Given the description of an element on the screen output the (x, y) to click on. 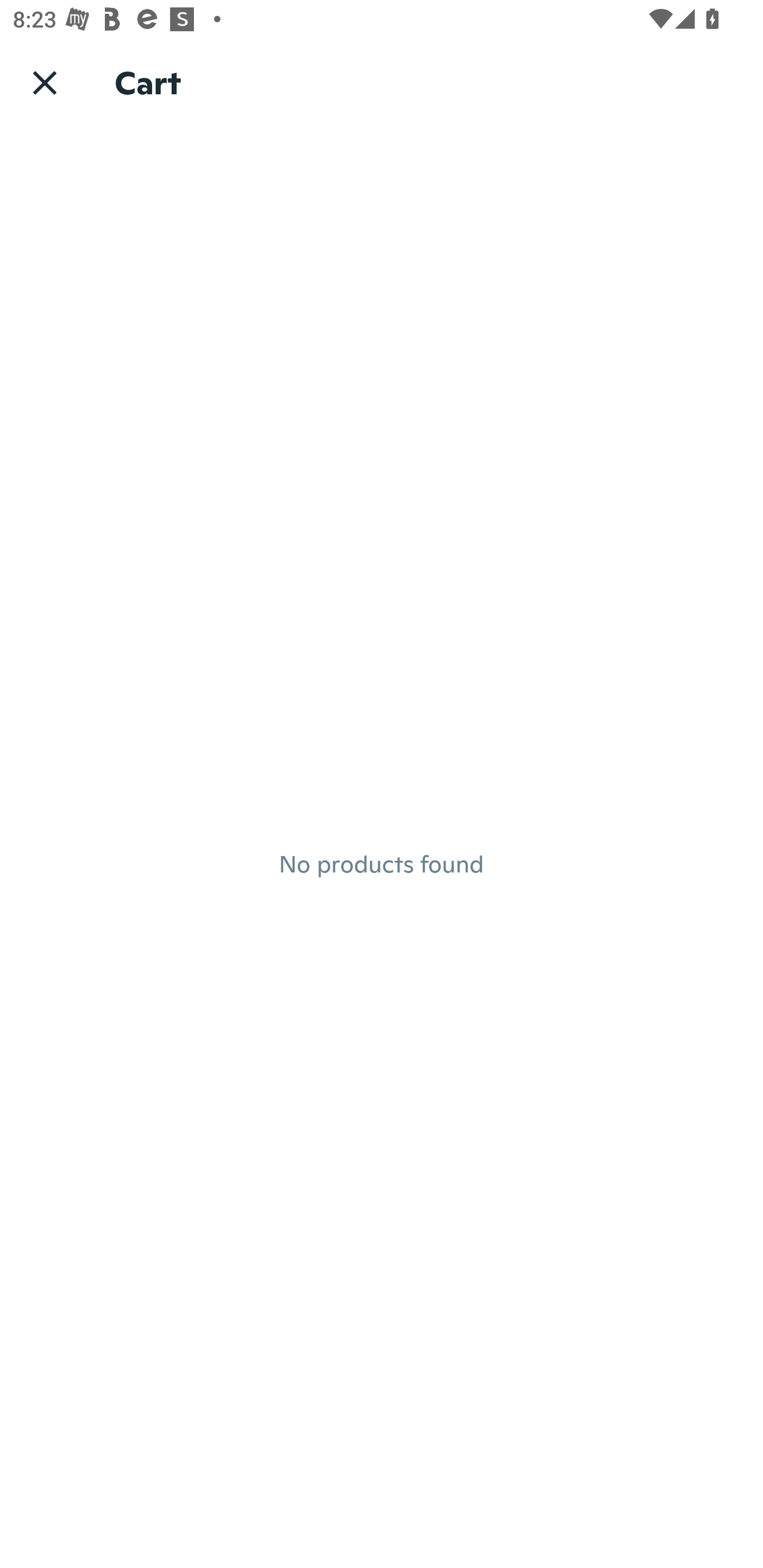
Navigate up (44, 82)
